Given the description of an element on the screen output the (x, y) to click on. 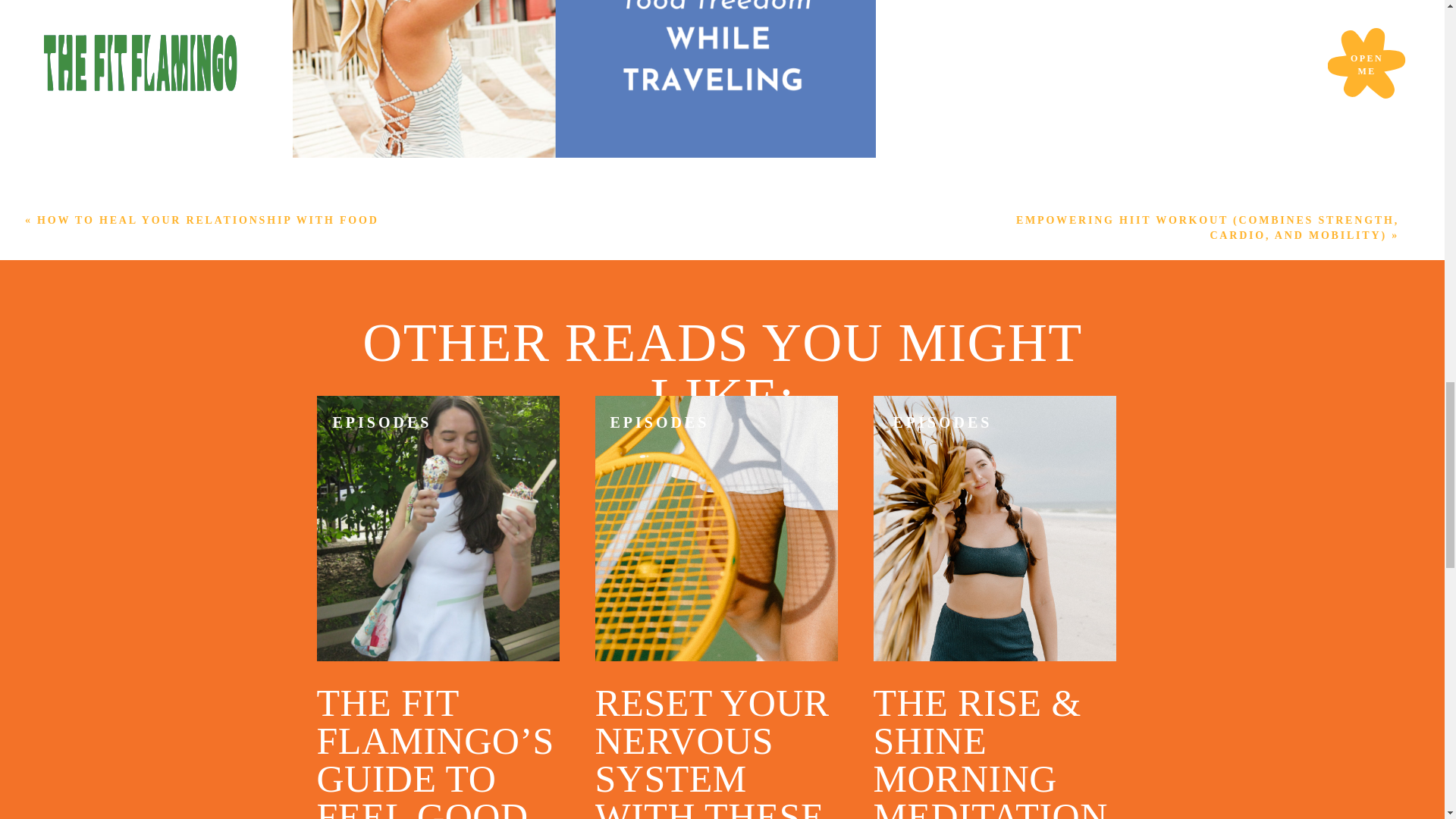
EPISODES (380, 422)
RESET YOUR NERVOUS SYSTEM WITH THESE 3 TIPS (711, 750)
EPISODES (659, 422)
HOW TO HEAL YOUR RELATIONSHIP WITH FOOD (207, 220)
